Given the description of an element on the screen output the (x, y) to click on. 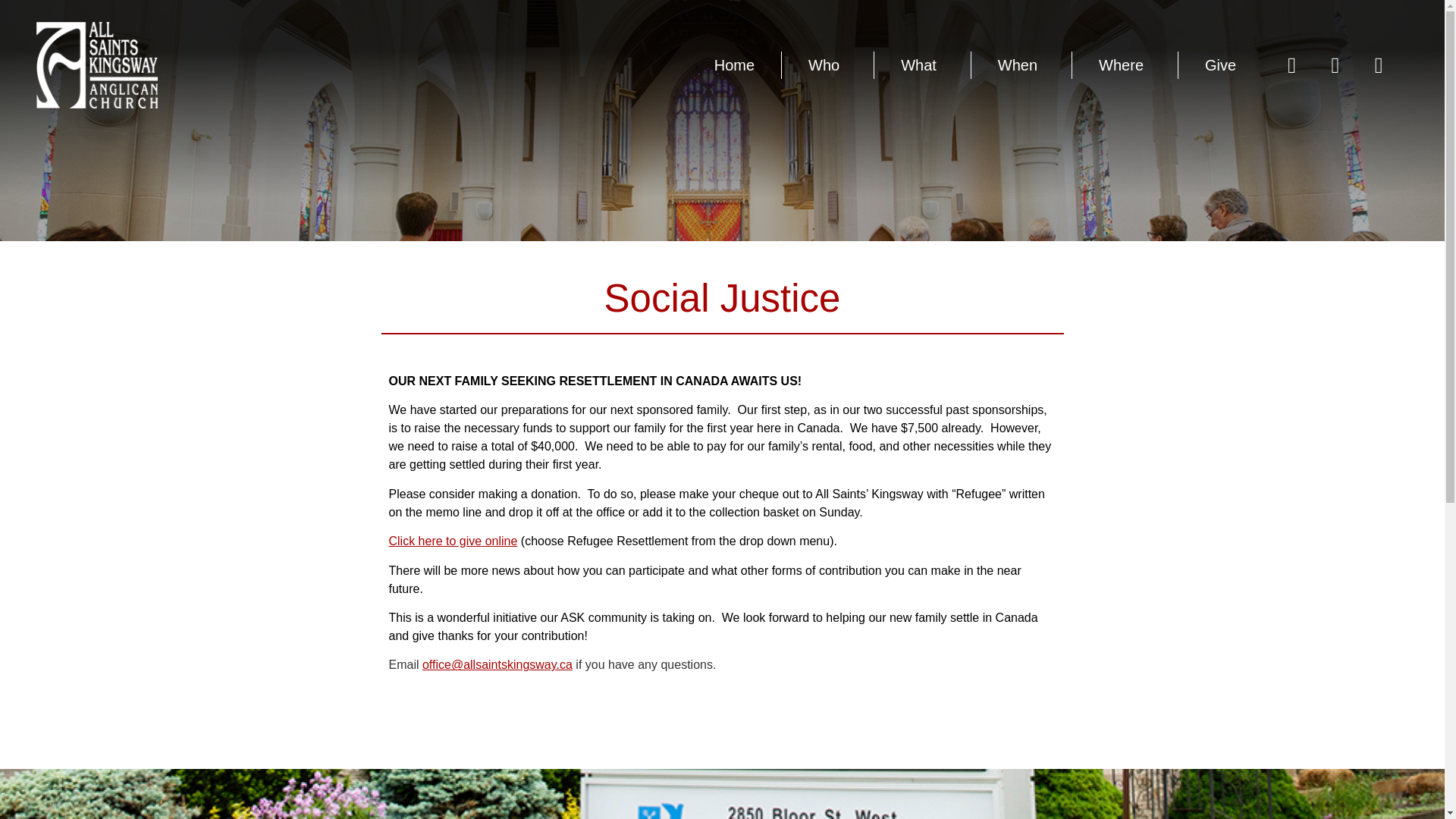
When (1021, 64)
Who (827, 64)
Where (1124, 64)
Home (733, 64)
What (923, 64)
Give (1219, 64)
